Given the description of an element on the screen output the (x, y) to click on. 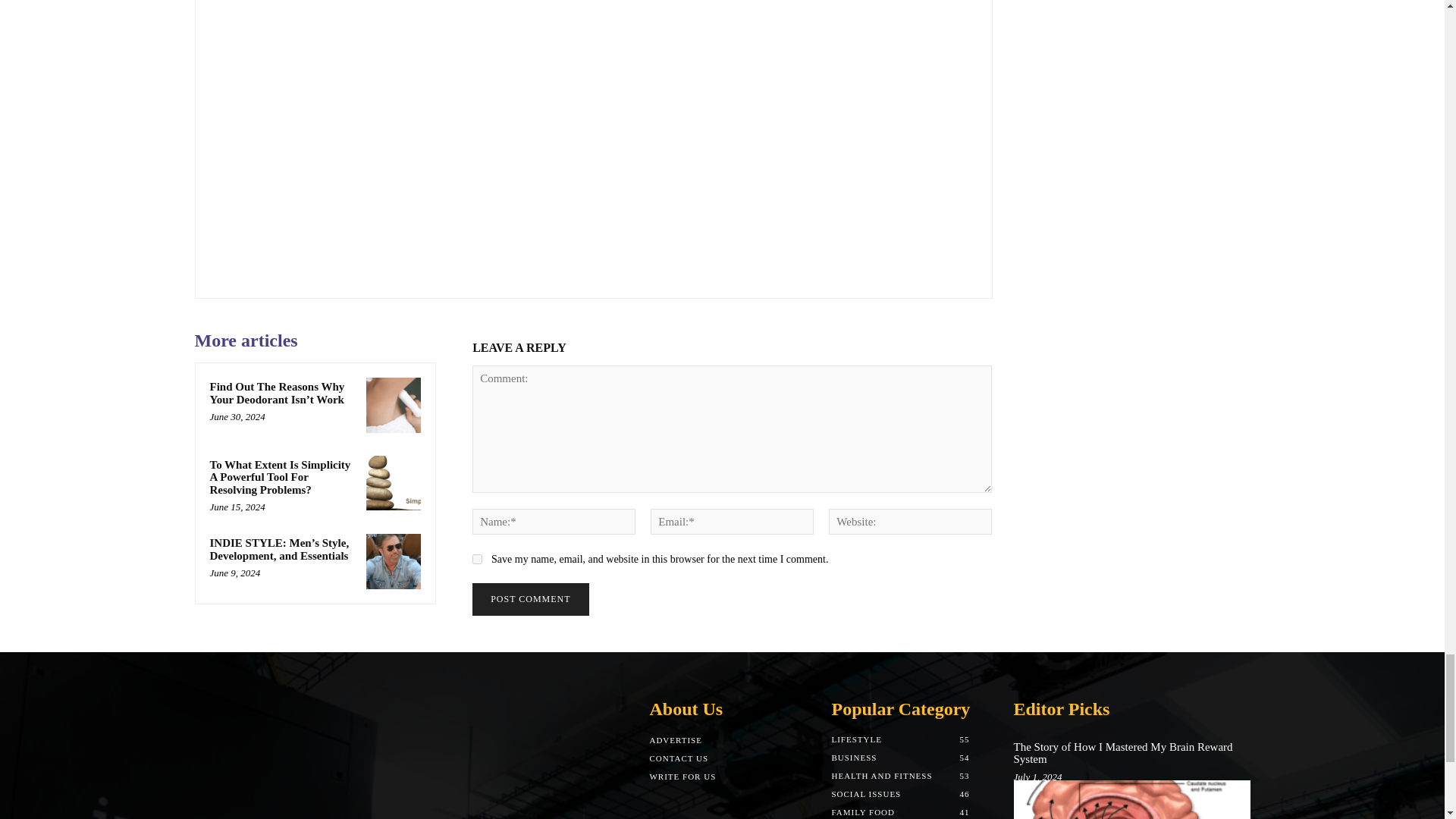
yes (476, 559)
Post Comment (529, 599)
